Given the description of an element on the screen output the (x, y) to click on. 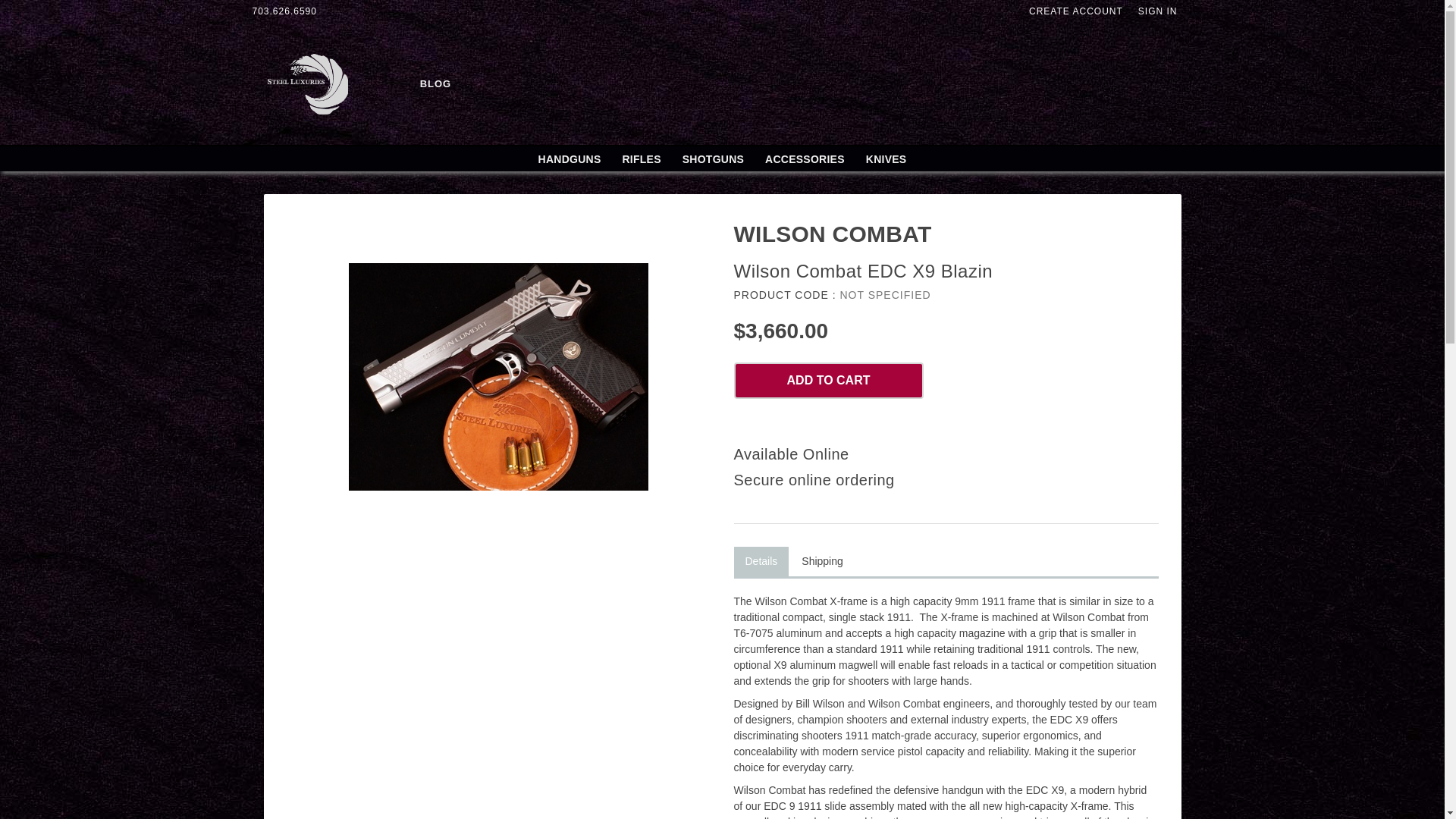
HANDGUNS (569, 159)
RIFLES (641, 159)
SIGN IN (1165, 11)
SHOTGUNS (712, 159)
ACCESSORIES (805, 159)
703.626.6590 (291, 11)
CREATE ACCOUNT (1083, 11)
KNIVES (886, 159)
